Given the description of an element on the screen output the (x, y) to click on. 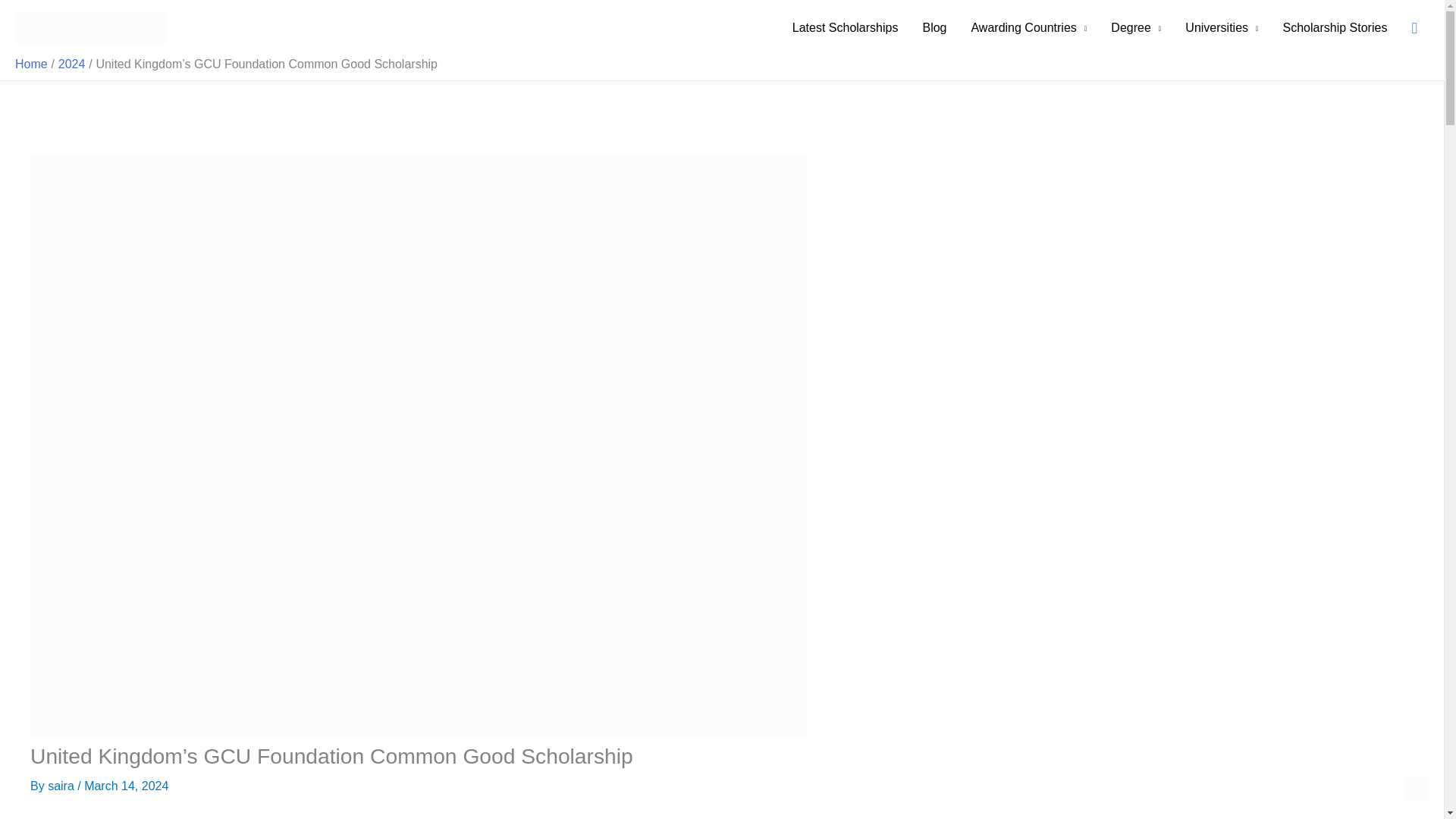
View all posts by saira (62, 785)
Latest Scholarships (845, 28)
Universities (1221, 28)
Home (31, 63)
2024 (71, 63)
saira (62, 785)
Degree (1136, 28)
Scholarship Stories (1335, 28)
Awarding Countries (1028, 28)
